Given the description of an element on the screen output the (x, y) to click on. 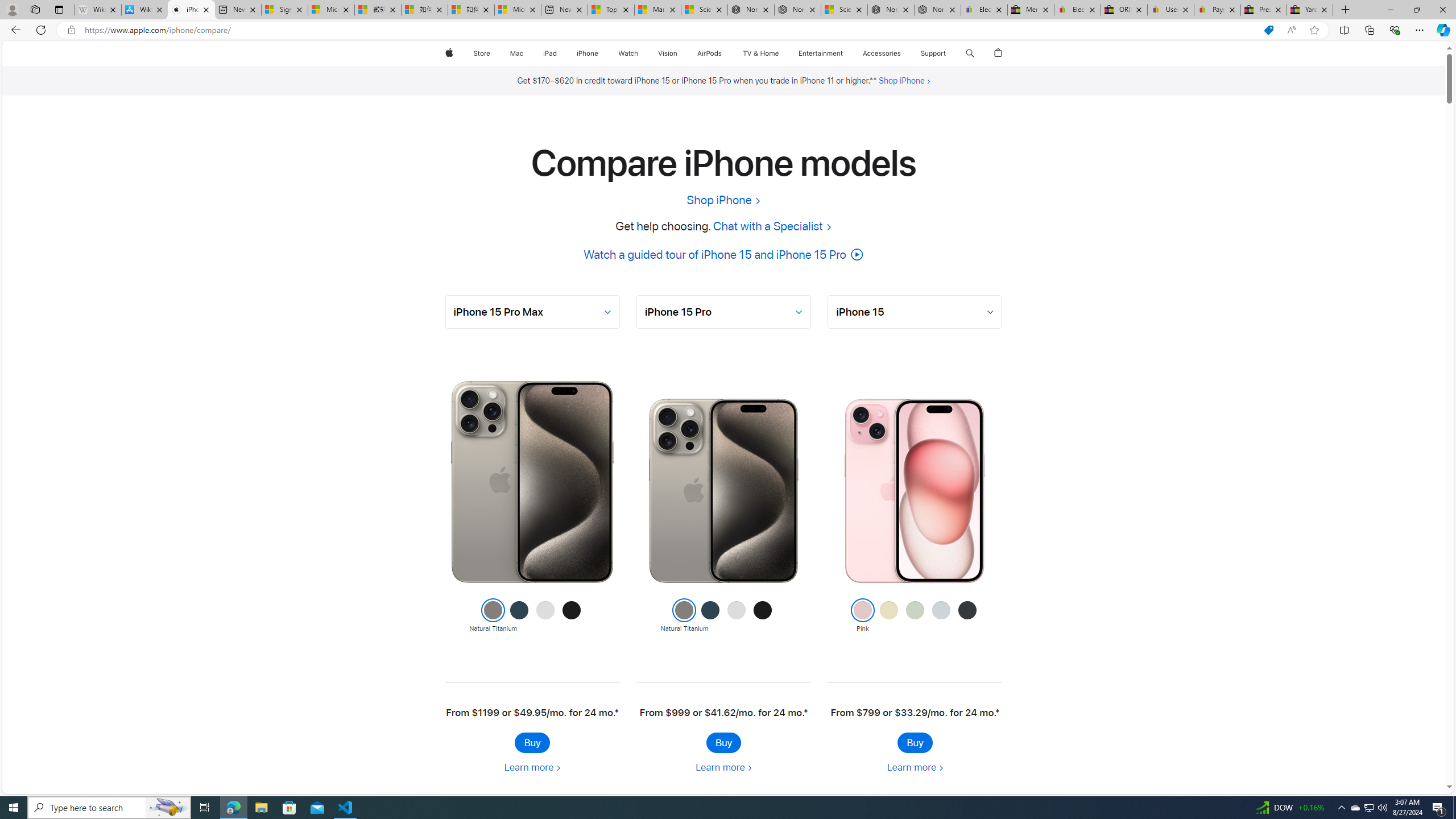
Black Titanium (762, 615)
Learn more about iPhone 15 Pro (723, 767)
Vision menu (678, 53)
Apple (448, 53)
iPhone (587, 53)
TV and Home (759, 53)
Buy iPhone 15 Pro Max (532, 742)
